Given the description of an element on the screen output the (x, y) to click on. 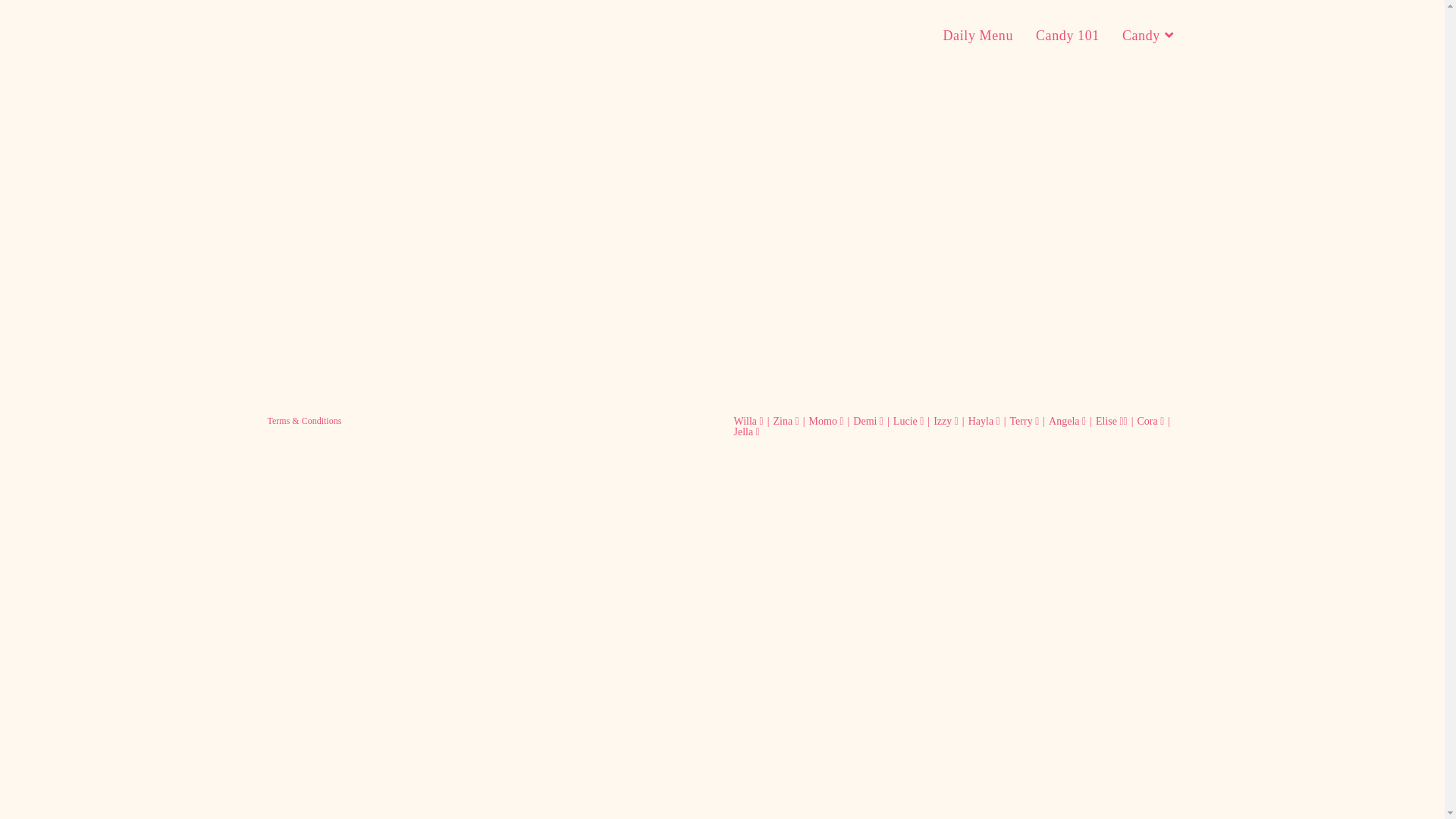
Daily Menu Element type: text (977, 35)
Candy Element type: text (1149, 35)
Candy 101 Element type: text (1067, 35)
Terms & Conditions Element type: text (303, 420)
